Given the description of an element on the screen output the (x, y) to click on. 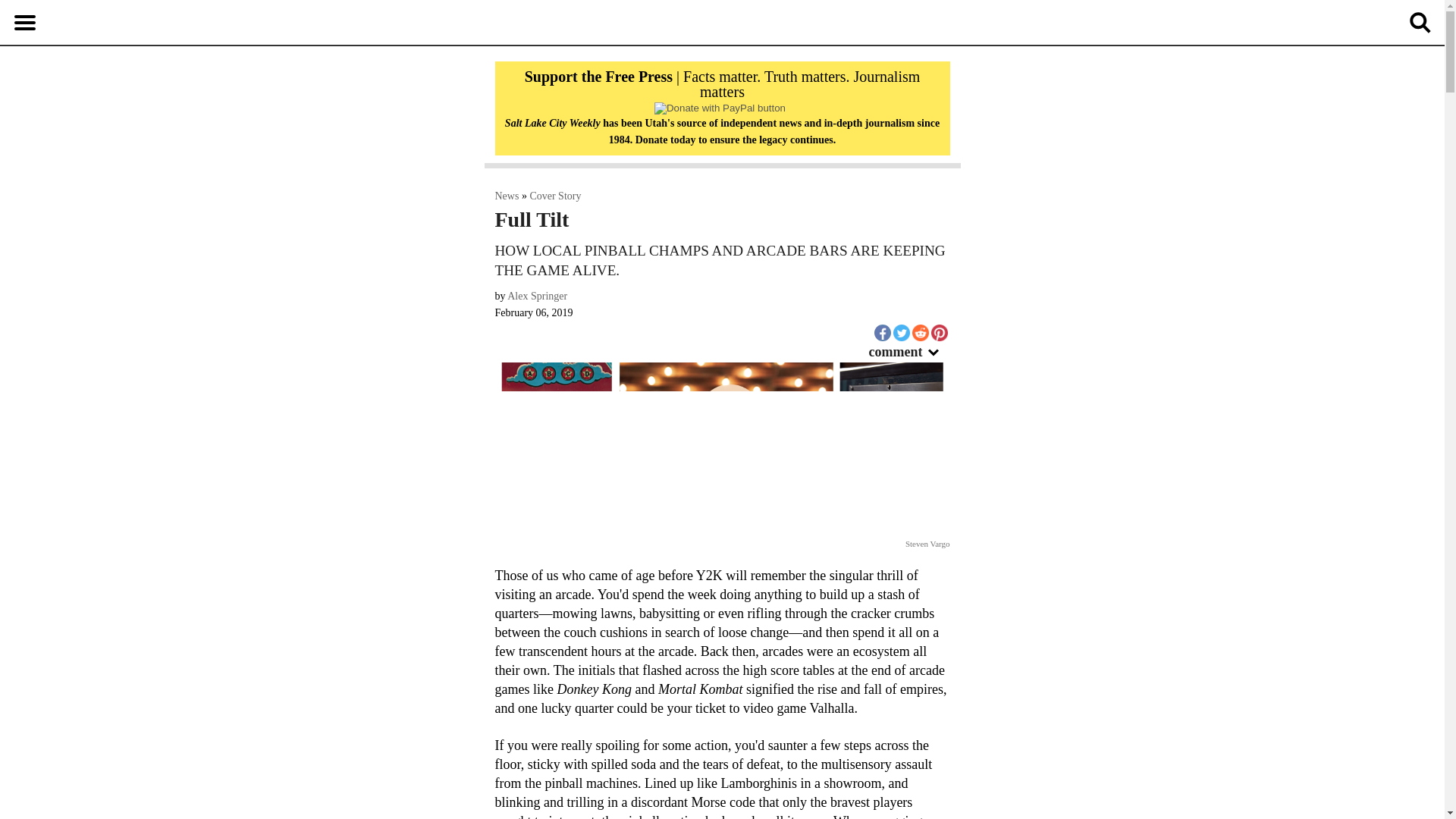
News (506, 195)
Facebook (881, 332)
Cover Story (554, 195)
Twitter (901, 332)
comment (909, 351)
Alex Springer (536, 296)
Reddit (919, 332)
PayPal - The safer, easier way to pay online! (719, 108)
Pinterest (939, 332)
MENU (23, 22)
